Given the description of an element on the screen output the (x, y) to click on. 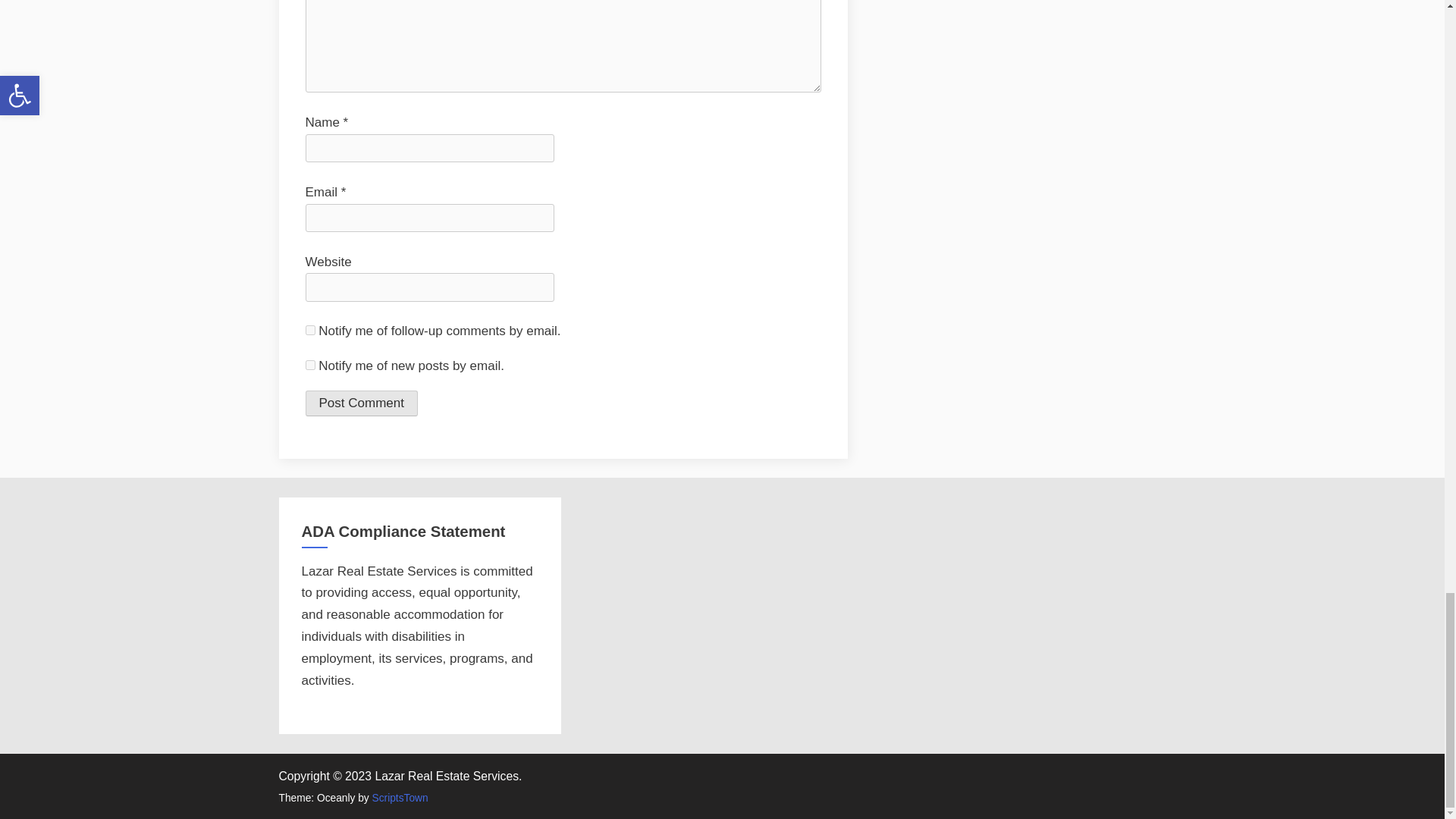
Post Comment (360, 403)
subscribe (309, 329)
subscribe (309, 365)
